Given the description of an element on the screen output the (x, y) to click on. 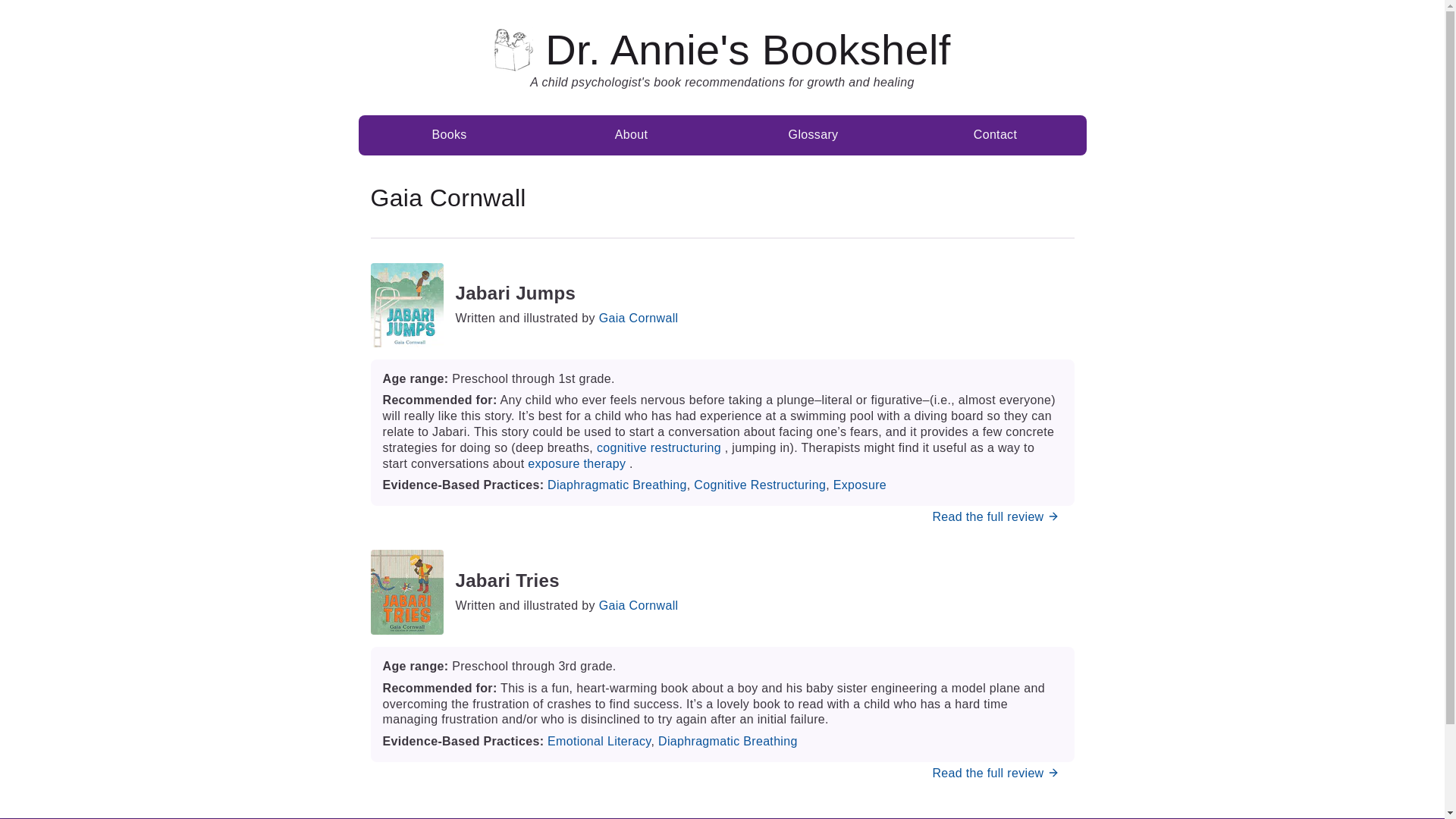
Diaphragmatic Breathing (617, 484)
Contact (995, 135)
Evidence-Based Practices: (464, 740)
Emotional Literacy (598, 740)
Diaphragmatic Breathing (727, 740)
cognitive restructuring (658, 447)
Jabari Jumps (566, 293)
Gaia Cornwall (638, 318)
Glossary (813, 135)
About (631, 135)
Read the full review (996, 772)
Read full post (996, 516)
Cognitive Restructuring (759, 484)
Age range: Preschool through 1st grade. (721, 379)
